Given the description of an element on the screen output the (x, y) to click on. 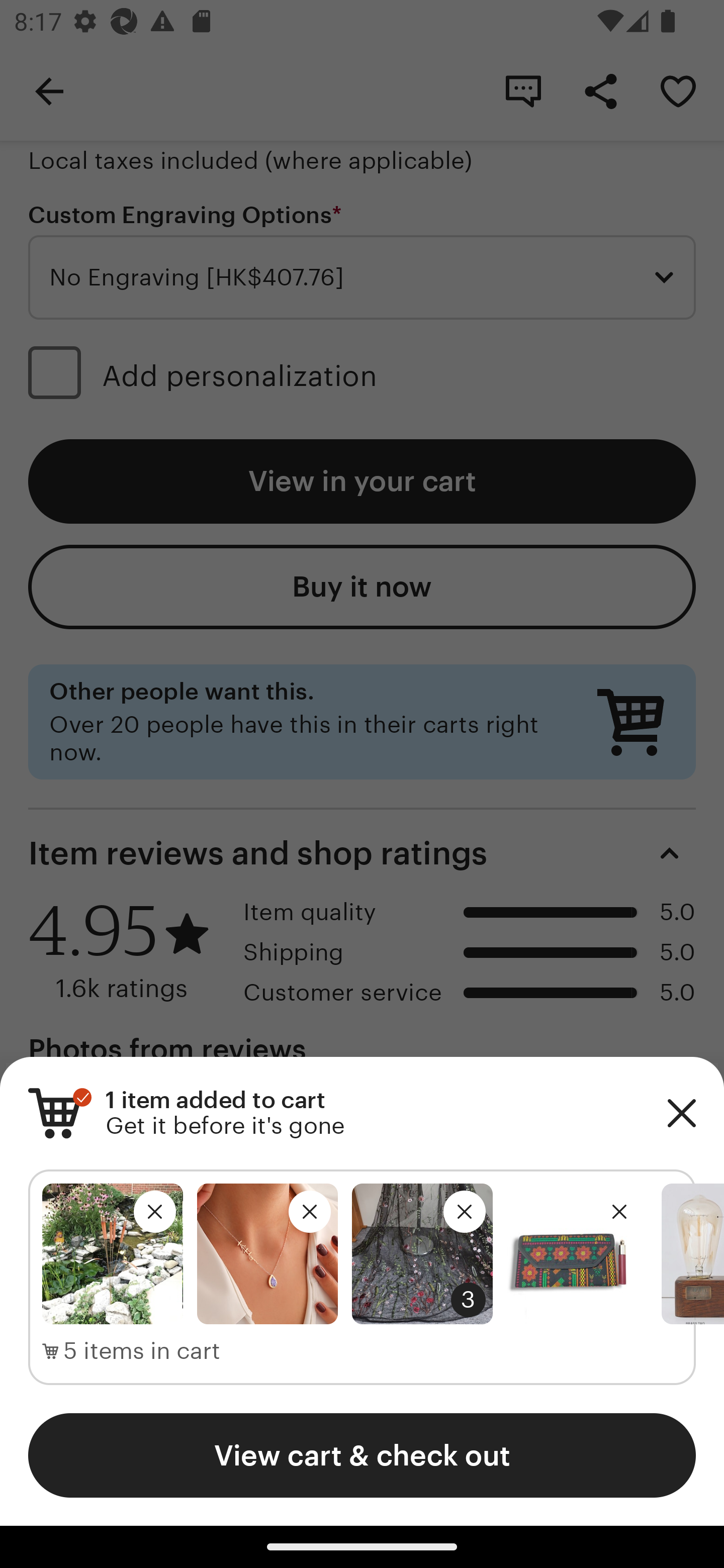
5 items in cart (130, 1351)
View cart & check out (361, 1454)
